Given the description of an element on the screen output the (x, y) to click on. 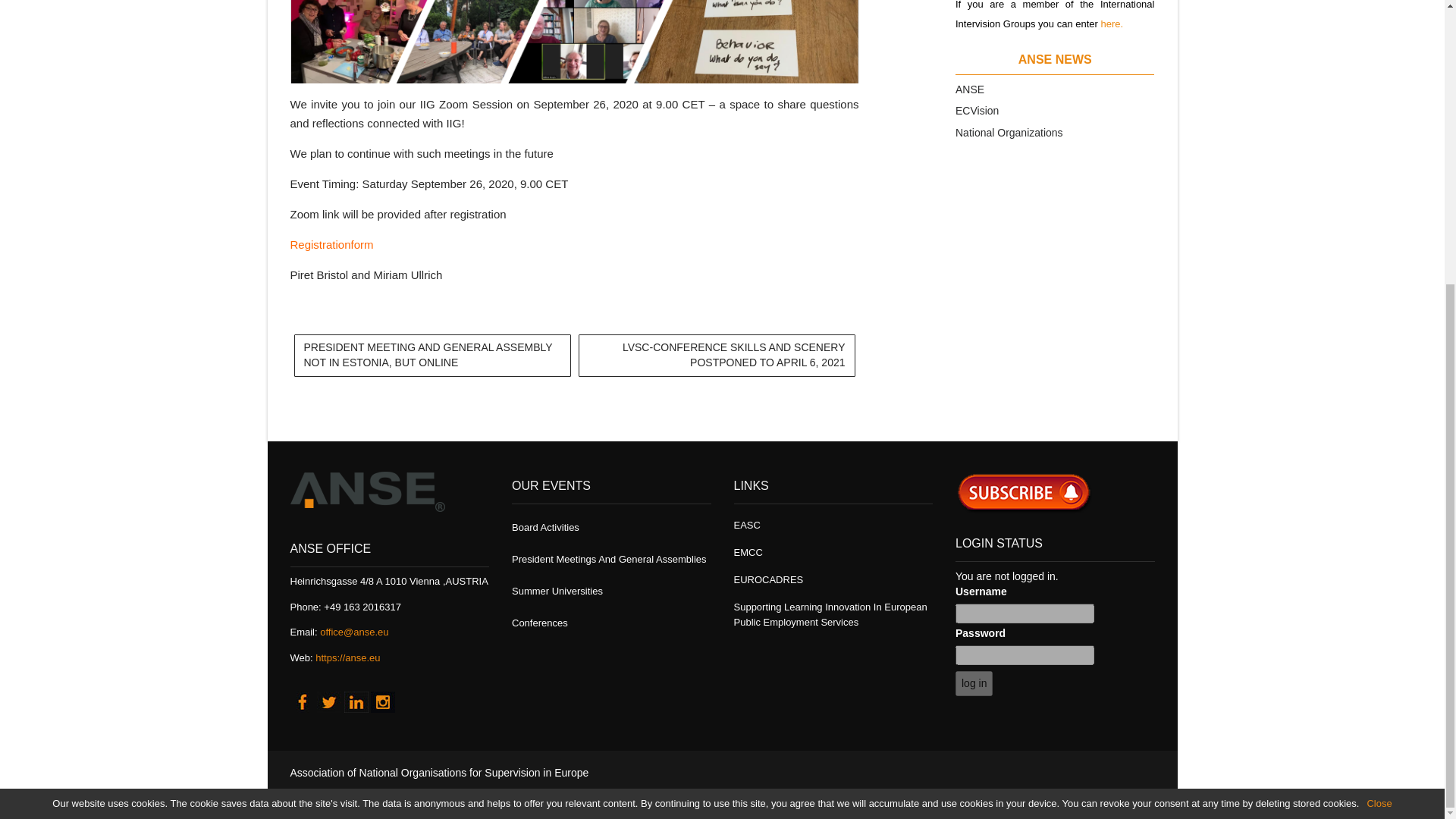
EASC (746, 524)
EMCC (747, 552)
Registrationform (330, 244)
EUROCADRES (768, 579)
